Given the description of an element on the screen output the (x, y) to click on. 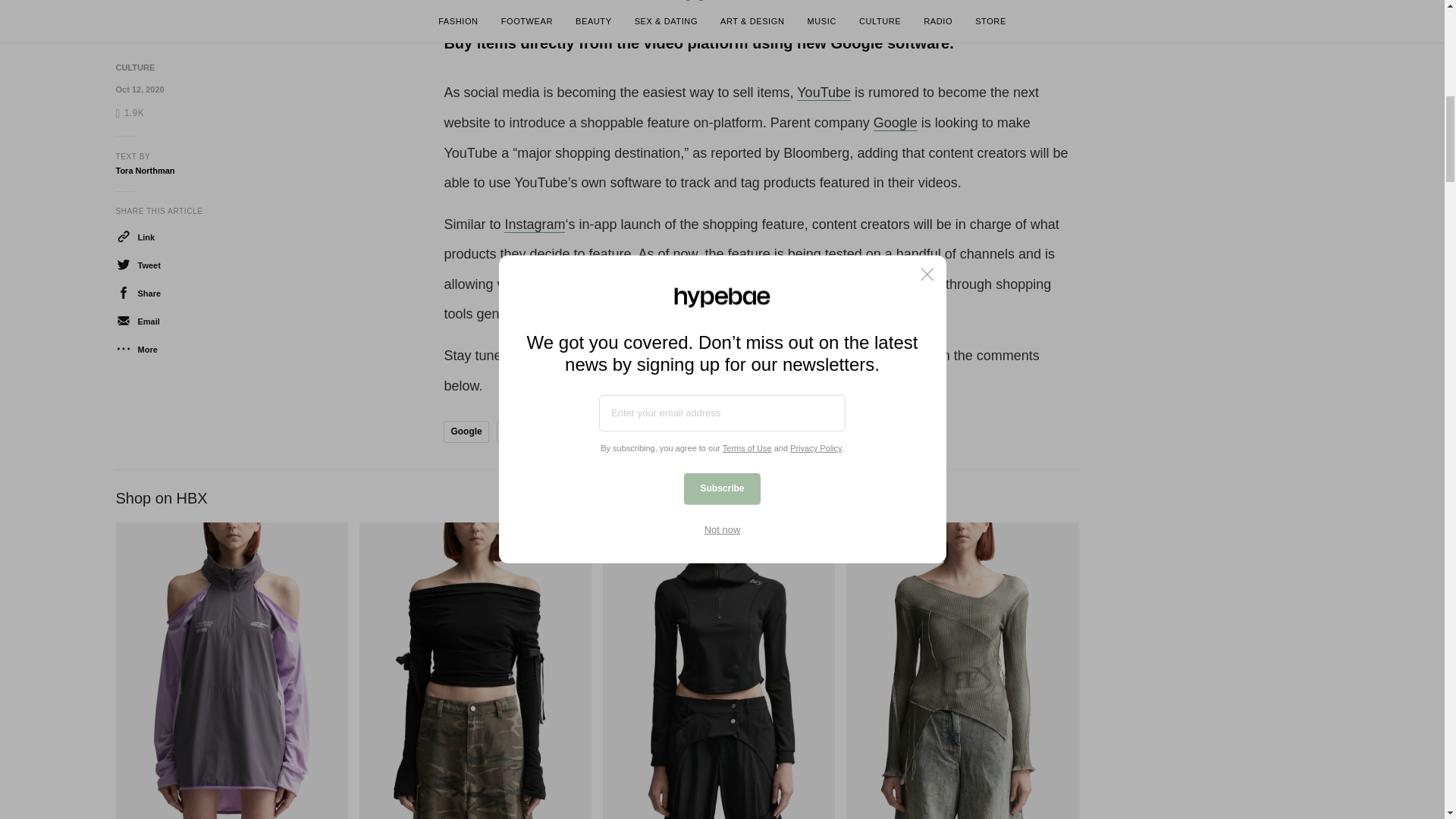
Google (895, 123)
Google (465, 431)
YouTube (585, 431)
YouTube (823, 92)
Shopping (523, 431)
Instagram (533, 224)
